Given the description of an element on the screen output the (x, y) to click on. 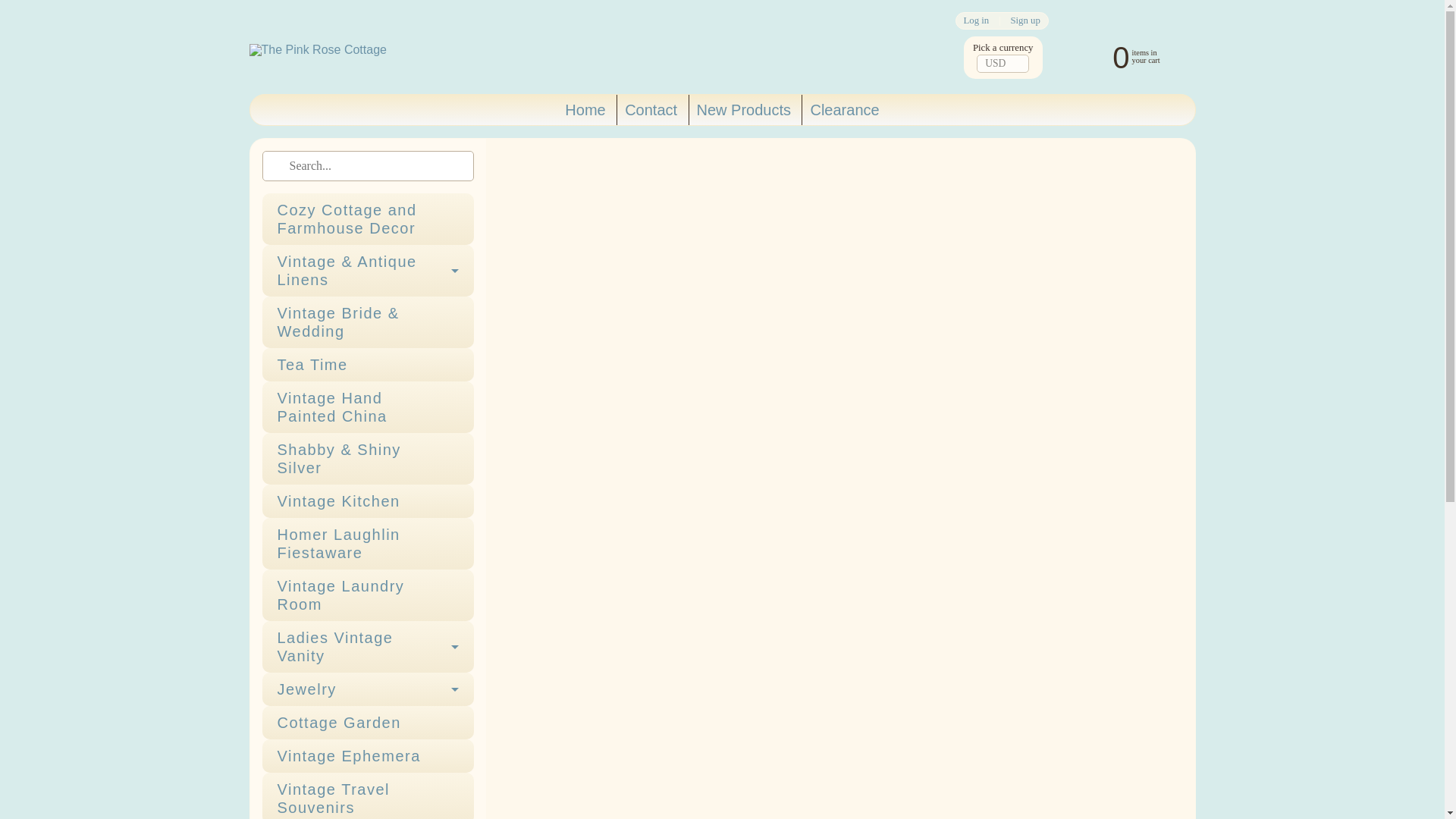
Vintage Laundry Room (368, 594)
Contact (650, 110)
The Pink Rose Cottage  (316, 50)
Sign up (1025, 20)
Vintage Hand Painted China (368, 407)
Clearance (844, 110)
Homer Laughlin Fiestaware (368, 543)
New Products (743, 110)
Vintage Kitchen (368, 500)
Ladies Vintage Vanity (368, 646)
